Given the description of an element on the screen output the (x, y) to click on. 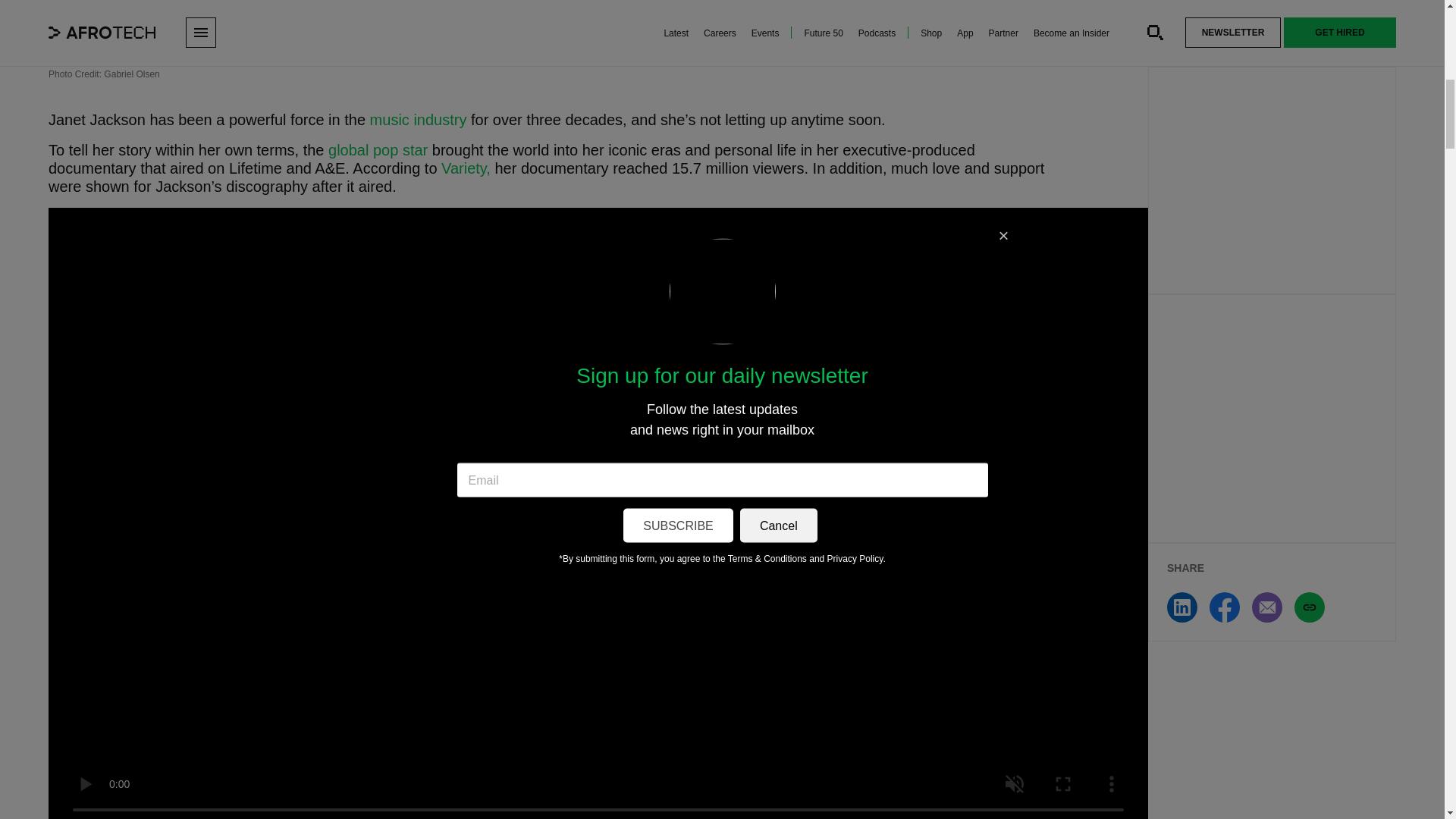
music industry (418, 119)
global pop star (378, 149)
Variety, (465, 167)
